Given the description of an element on the screen output the (x, y) to click on. 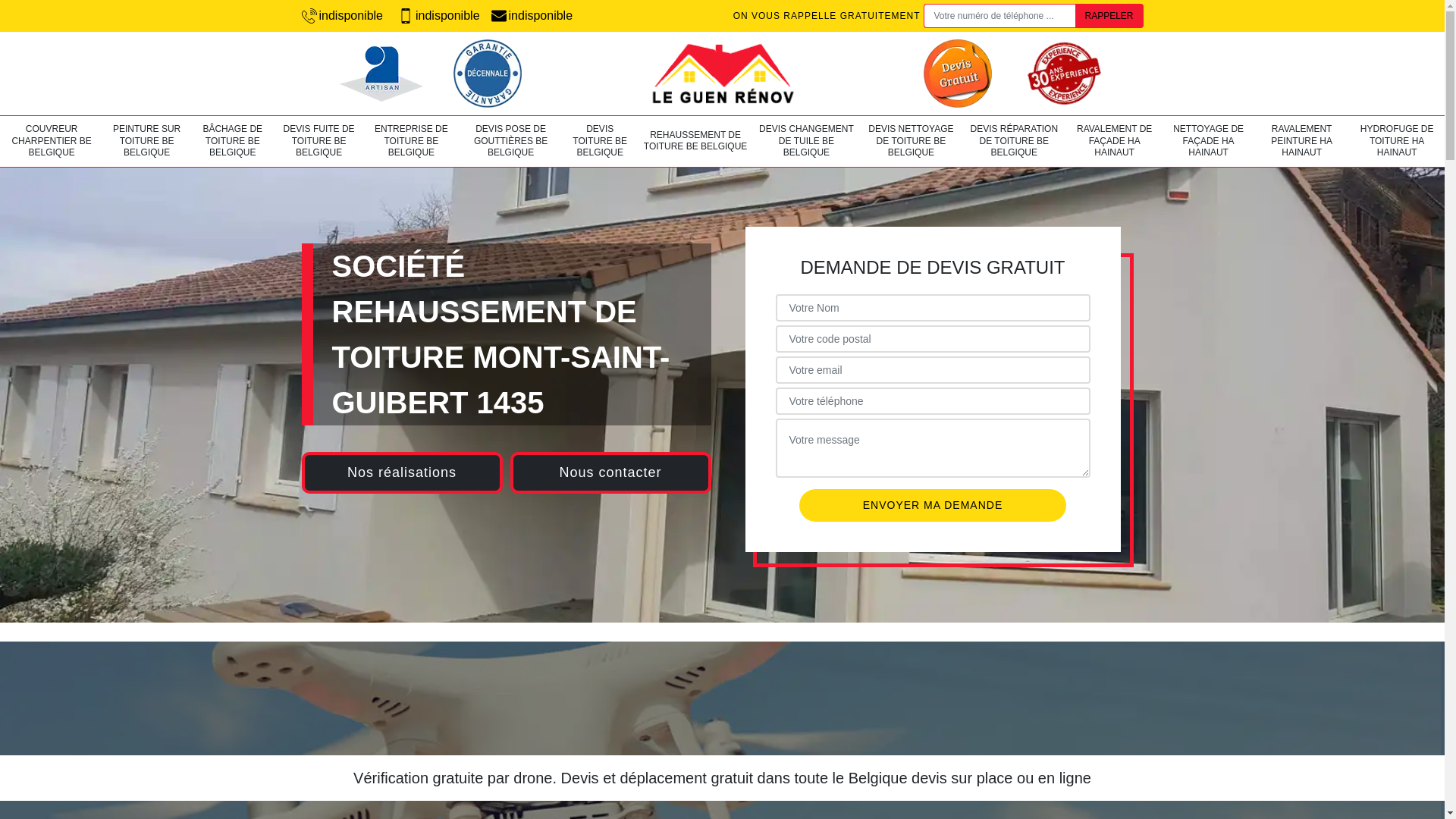
DEVIS FUITE DE TOITURE BE BELGIQUE Element type: text (319, 141)
ENTREPRISE DE TOITURE BE BELGIQUE Element type: text (410, 141)
DEVIS NETTOYAGE DE TOITURE BE BELGIQUE Element type: text (910, 141)
PEINTURE SUR TOITURE BE BELGIQUE Element type: text (146, 141)
HYDROFUGE DE TOITURE HA HAINAUT Element type: text (1396, 141)
Envoyer ma demande Element type: text (932, 505)
REHAUSSEMENT DE TOITURE BE BELGIQUE Element type: text (695, 141)
COUVREUR CHARPENTIER BE BELGIQUE Element type: text (51, 141)
indisponible Element type: text (532, 15)
DEVIS TOITURE BE BELGIQUE Element type: text (599, 141)
indisponible Element type: text (342, 15)
Nous contacter Element type: text (609, 472)
logo-couvreur-charpentier-Tony-Robin-couvreur-BE Element type: hover (721, 73)
RAPPELER Element type: text (1108, 15)
RAVALEMENT PEINTURE HA HAINAUT Element type: text (1301, 141)
indisponible Element type: text (439, 15)
DEVIS CHANGEMENT DE TUILE BE BELGIQUE Element type: text (806, 141)
